Given the description of an element on the screen output the (x, y) to click on. 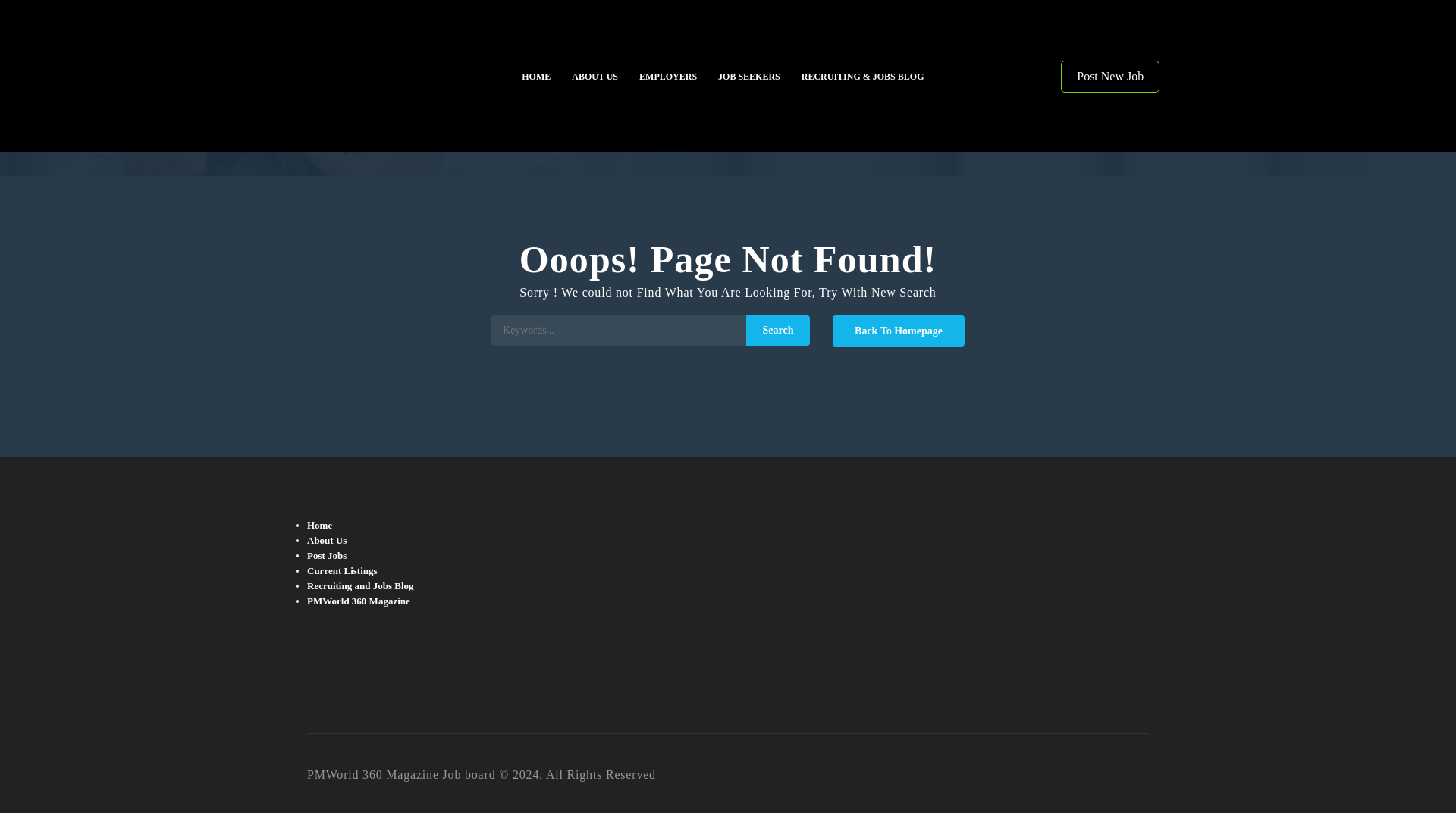
Post New Job (1109, 76)
Search (777, 330)
Recruiting and Jobs Blog (360, 585)
PMWorld 360 Magazine Job board (403, 76)
Home (319, 524)
About Us (326, 540)
Back To Homepage (897, 330)
Search (777, 330)
JOB SEEKERS (748, 75)
Current Listings (342, 570)
